Given the description of an element on the screen output the (x, y) to click on. 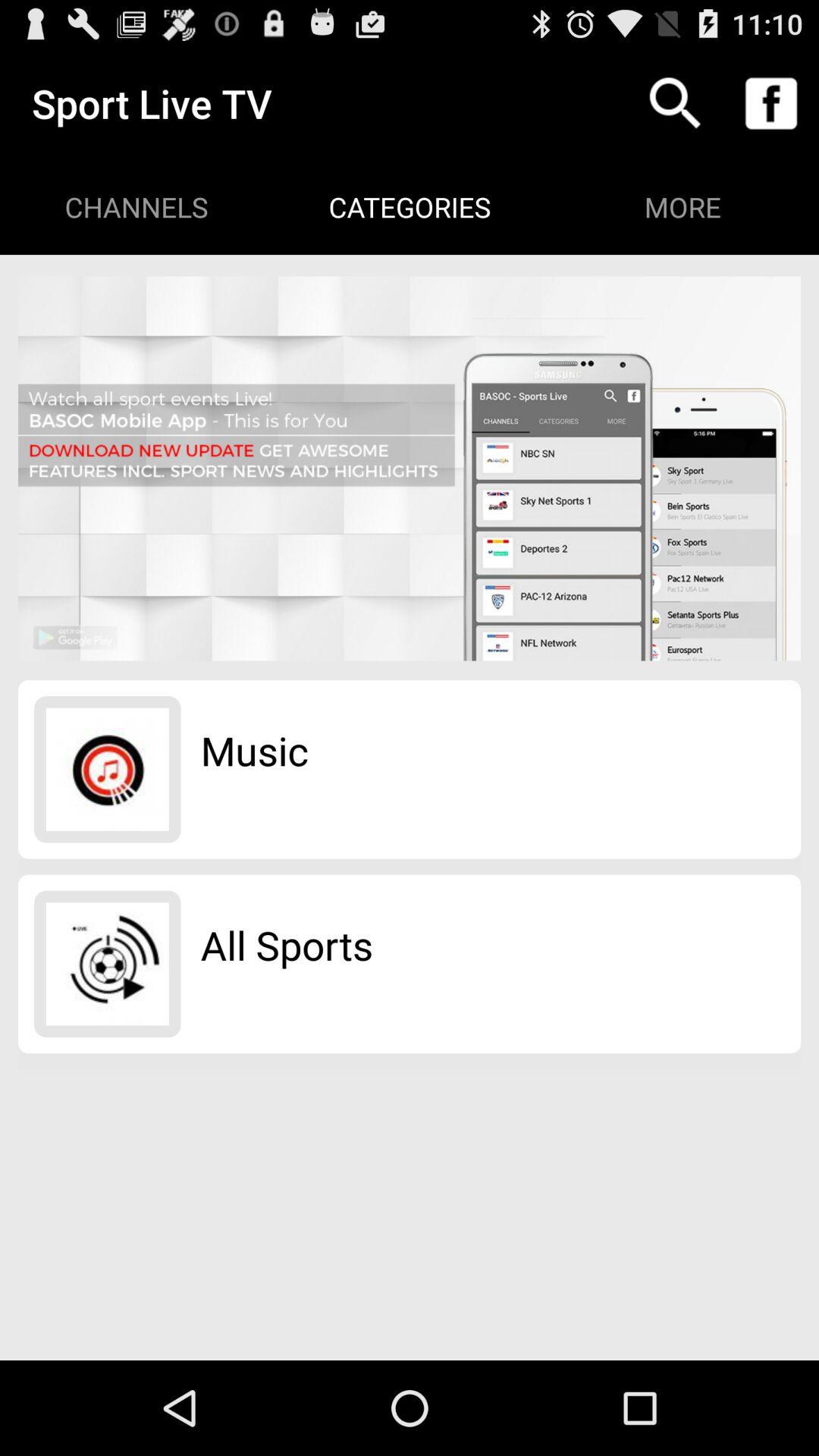
jump until the music item (254, 750)
